Given the description of an element on the screen output the (x, y) to click on. 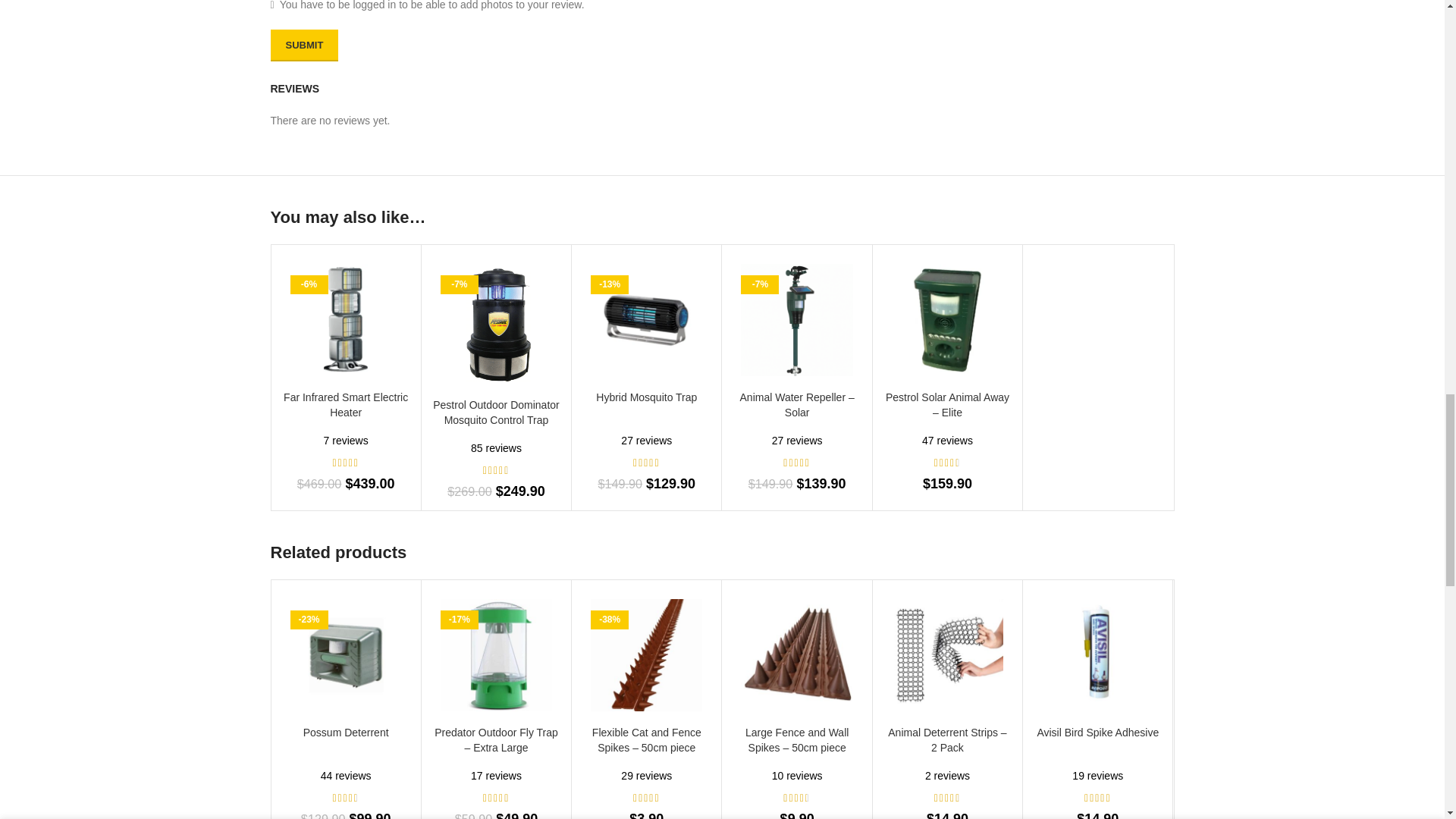
Submit (303, 45)
